Given the description of an element on the screen output the (x, y) to click on. 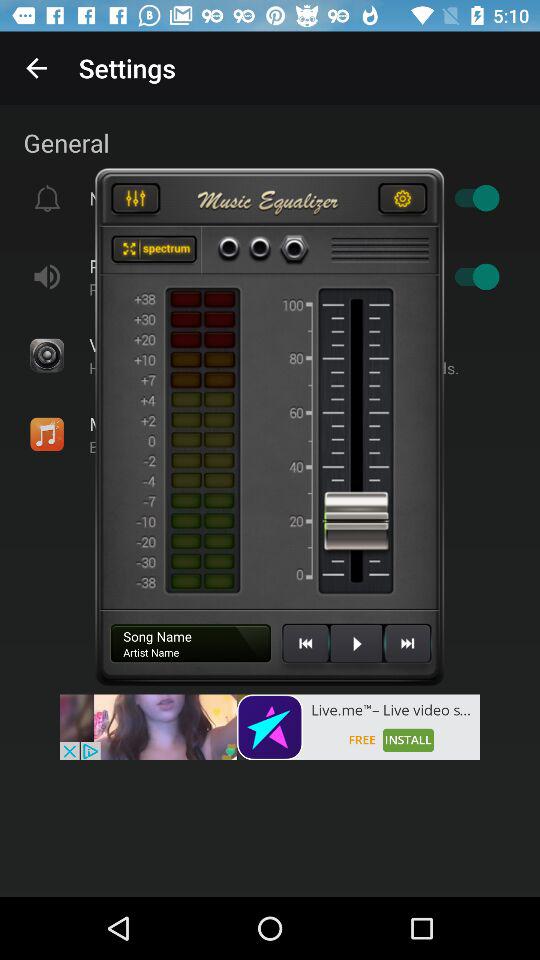
go to next song (407, 651)
